Given the description of an element on the screen output the (x, y) to click on. 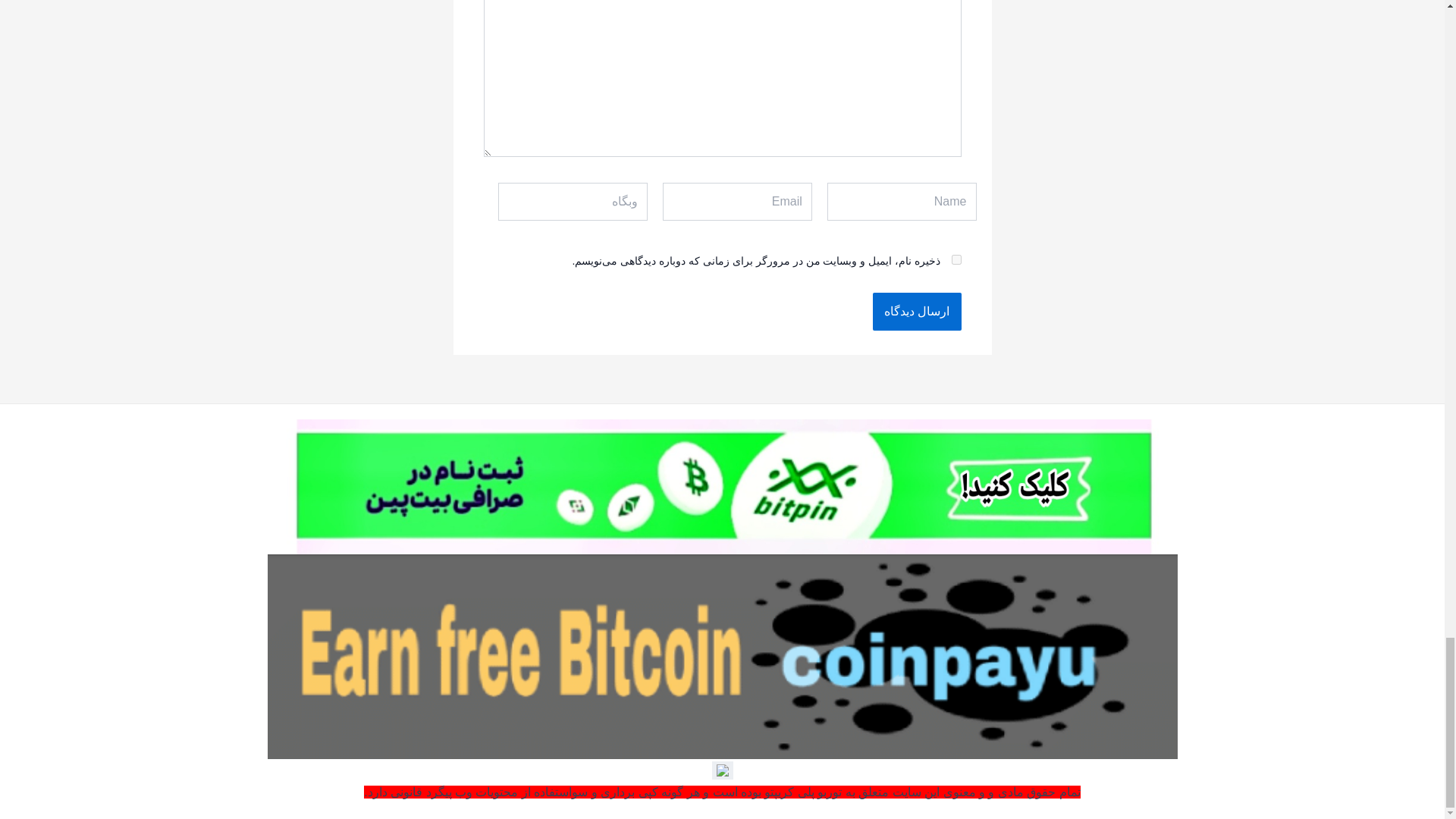
yes (955, 259)
